Given the description of an element on the screen output the (x, y) to click on. 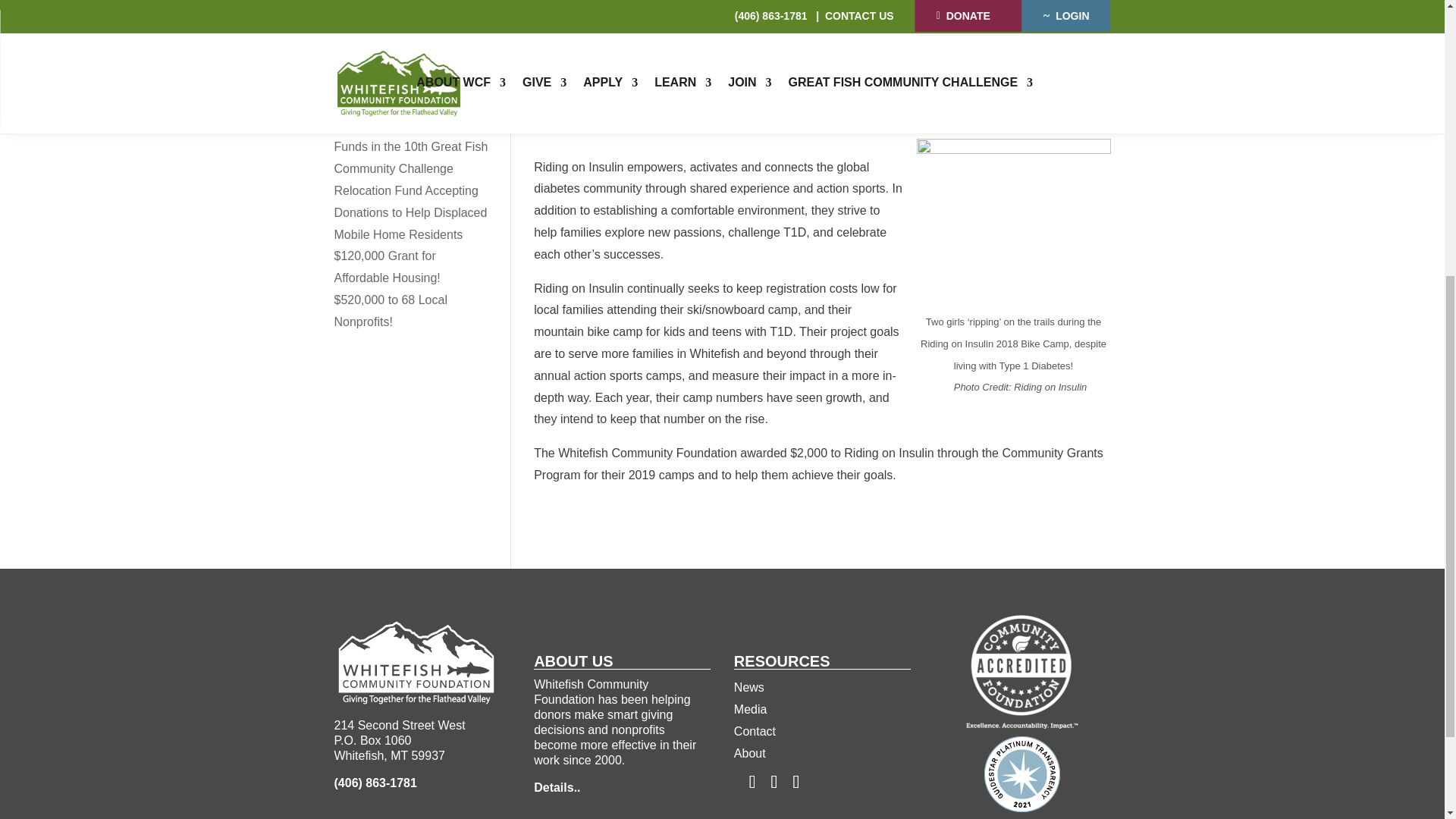
Posts by Linda Engh-Grady (694, 2)
